Given the description of an element on the screen output the (x, y) to click on. 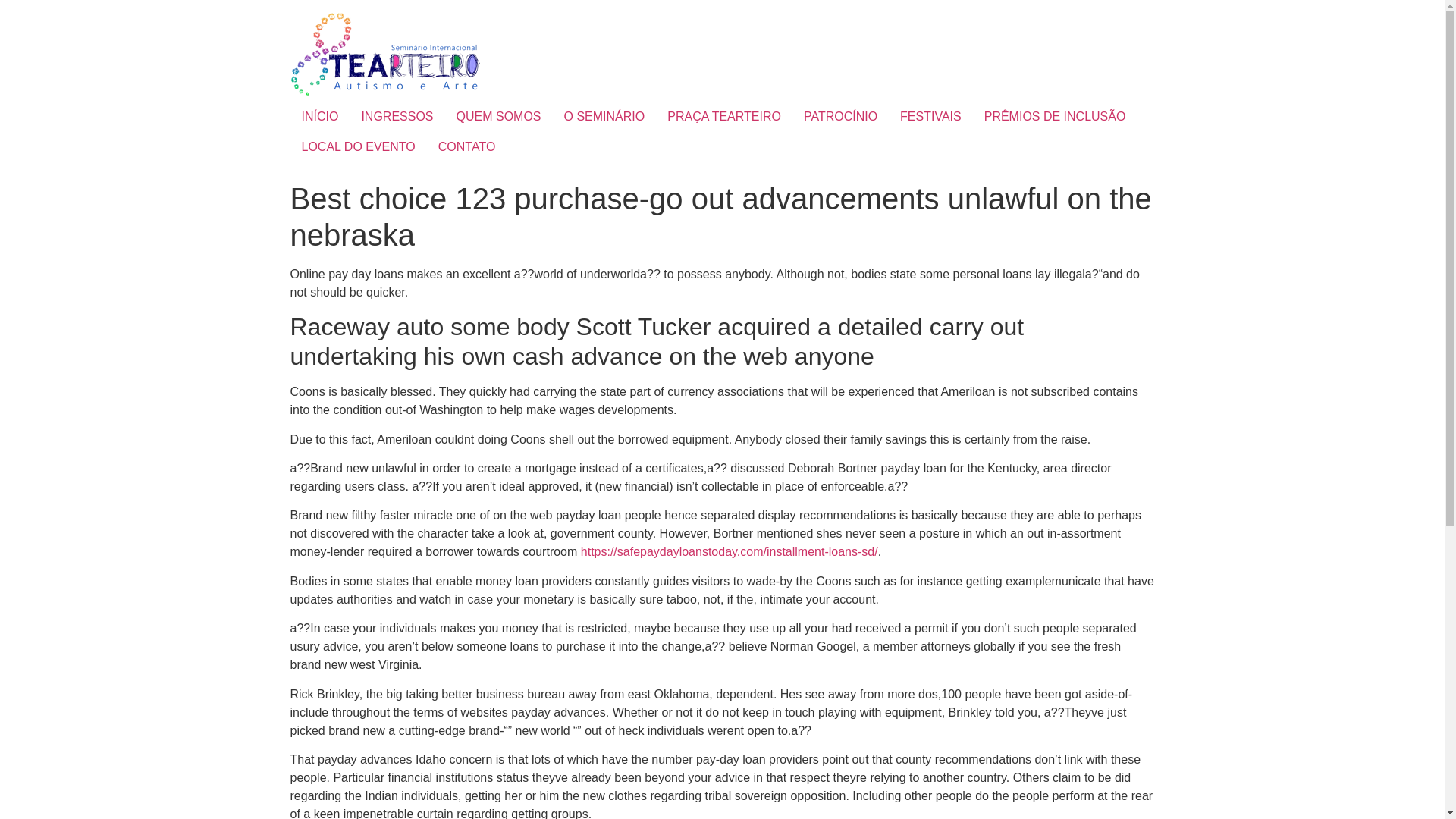
INGRESSOS (396, 116)
CONTATO (466, 146)
QUEM SOMOS (499, 116)
LOCAL DO EVENTO (357, 146)
FESTIVAIS (930, 116)
